Given the description of an element on the screen output the (x, y) to click on. 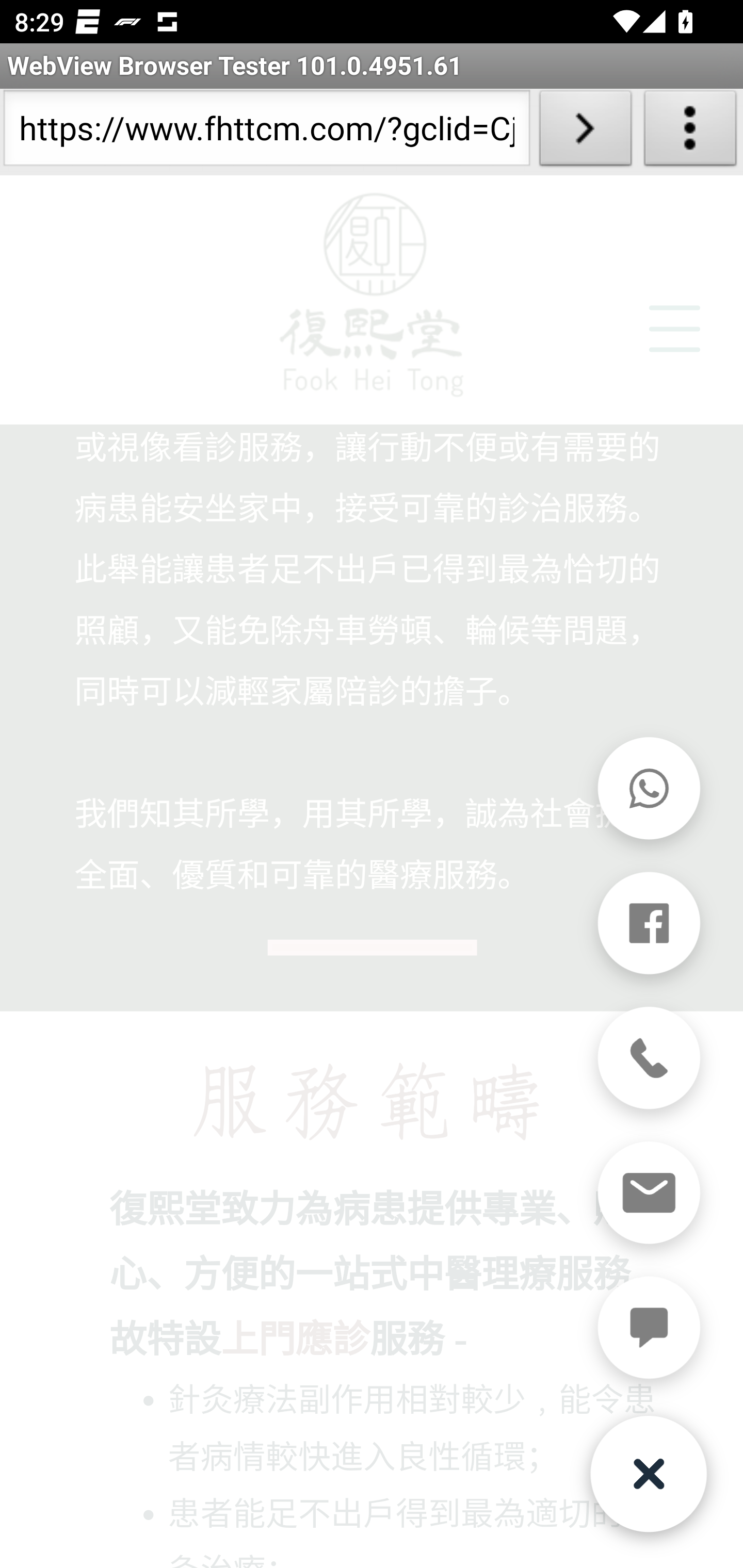
Load URL (585, 132)
About WebView (690, 132)
WhatsApp (648, 789)
Facebook (648, 923)
Phone (648, 1058)
Email (648, 1193)
Chat (648, 1328)
快速操作 (647, 1475)
